Given the description of an element on the screen output the (x, y) to click on. 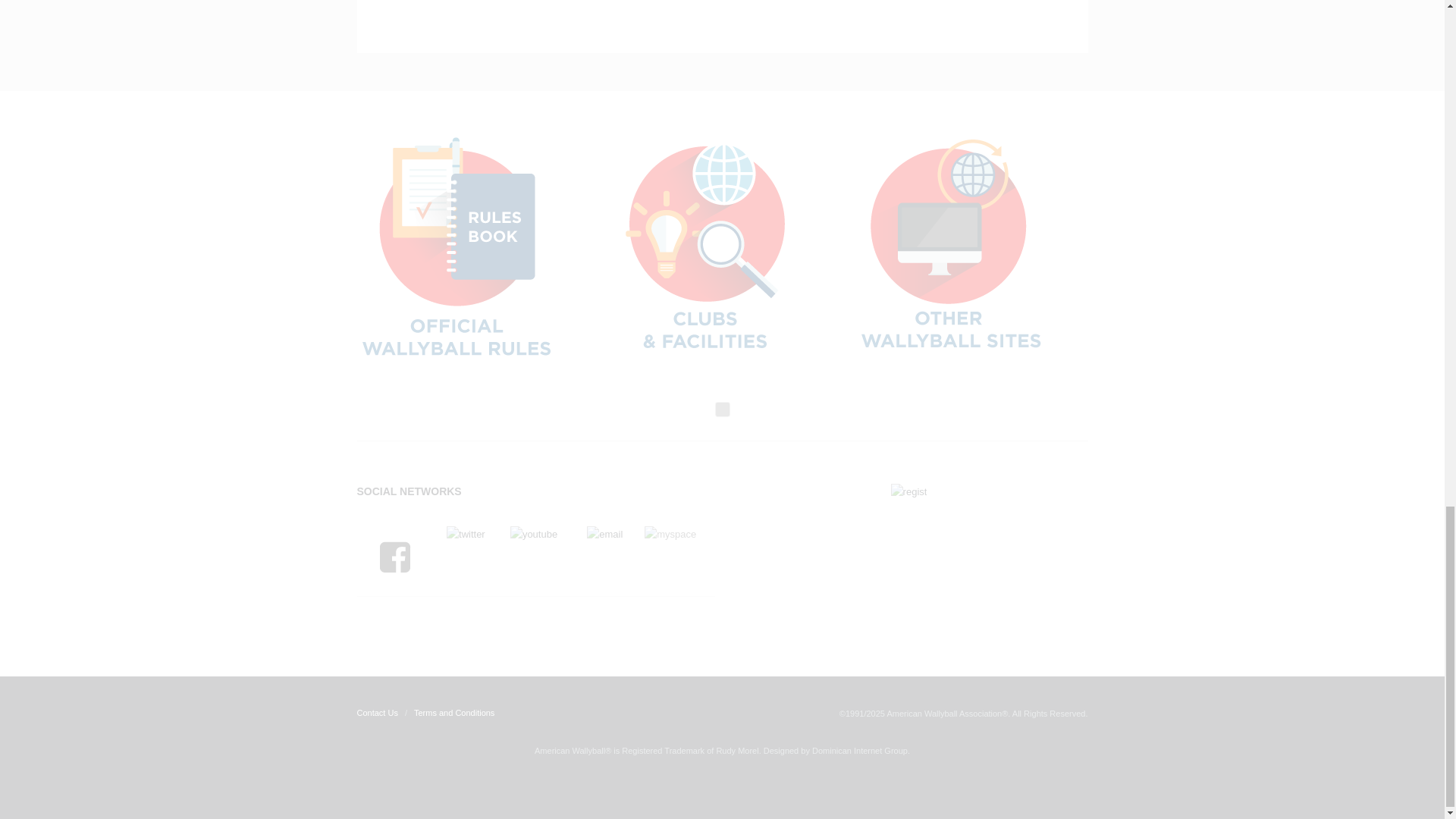
Wallyball in YouTube (534, 534)
Wallyball in My Space (670, 534)
Wallyballfacebook (392, 555)
Wallyball In Facebook (392, 581)
Wallyball Email (604, 534)
Wallyball in Twitter (465, 534)
